Given the description of an element on the screen output the (x, y) to click on. 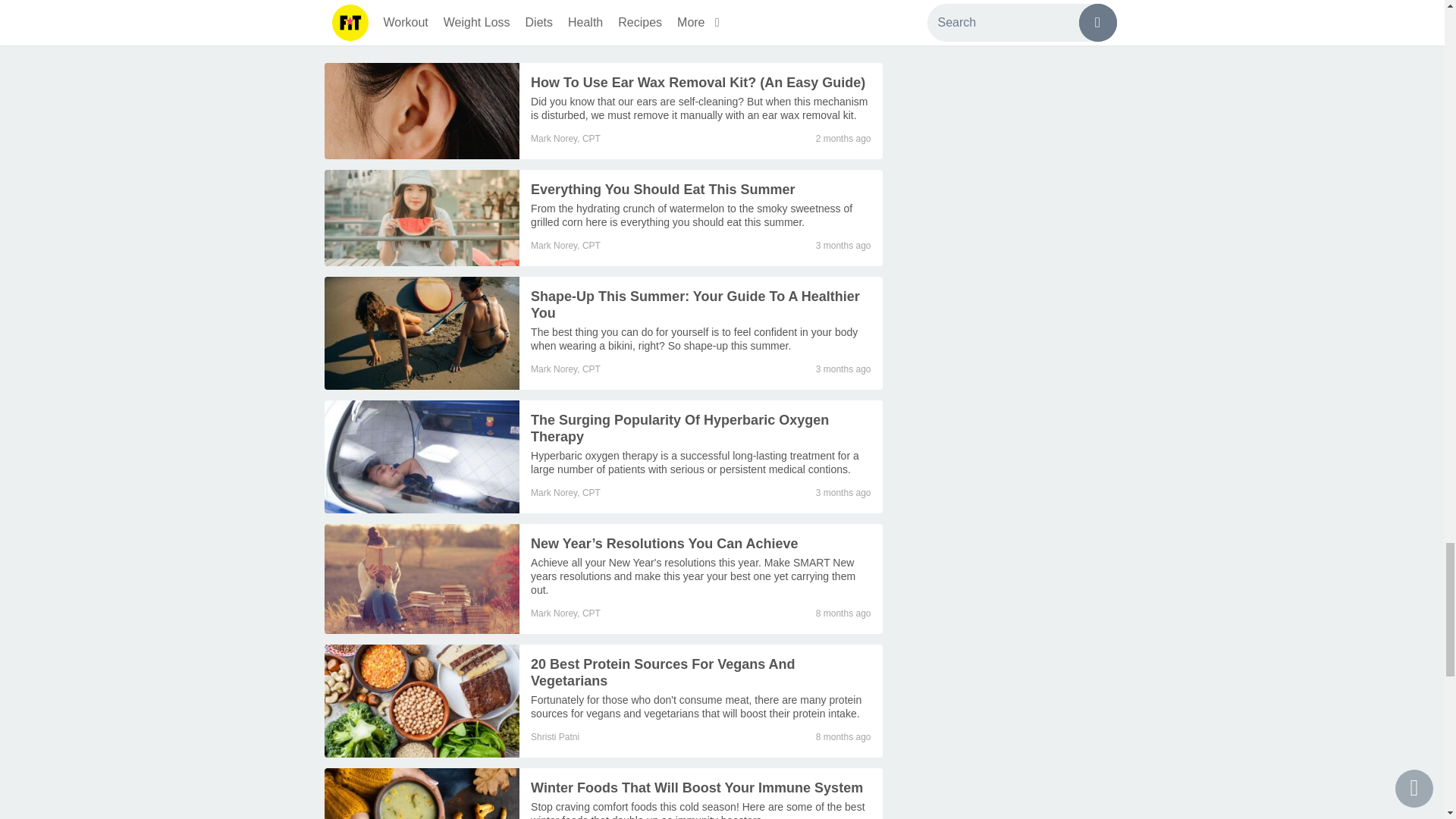
Everything You Should Eat This Summer (421, 217)
Everything You Should Eat This Summer (662, 189)
Everything You Should Eat This Summer (691, 215)
